Given the description of an element on the screen output the (x, y) to click on. 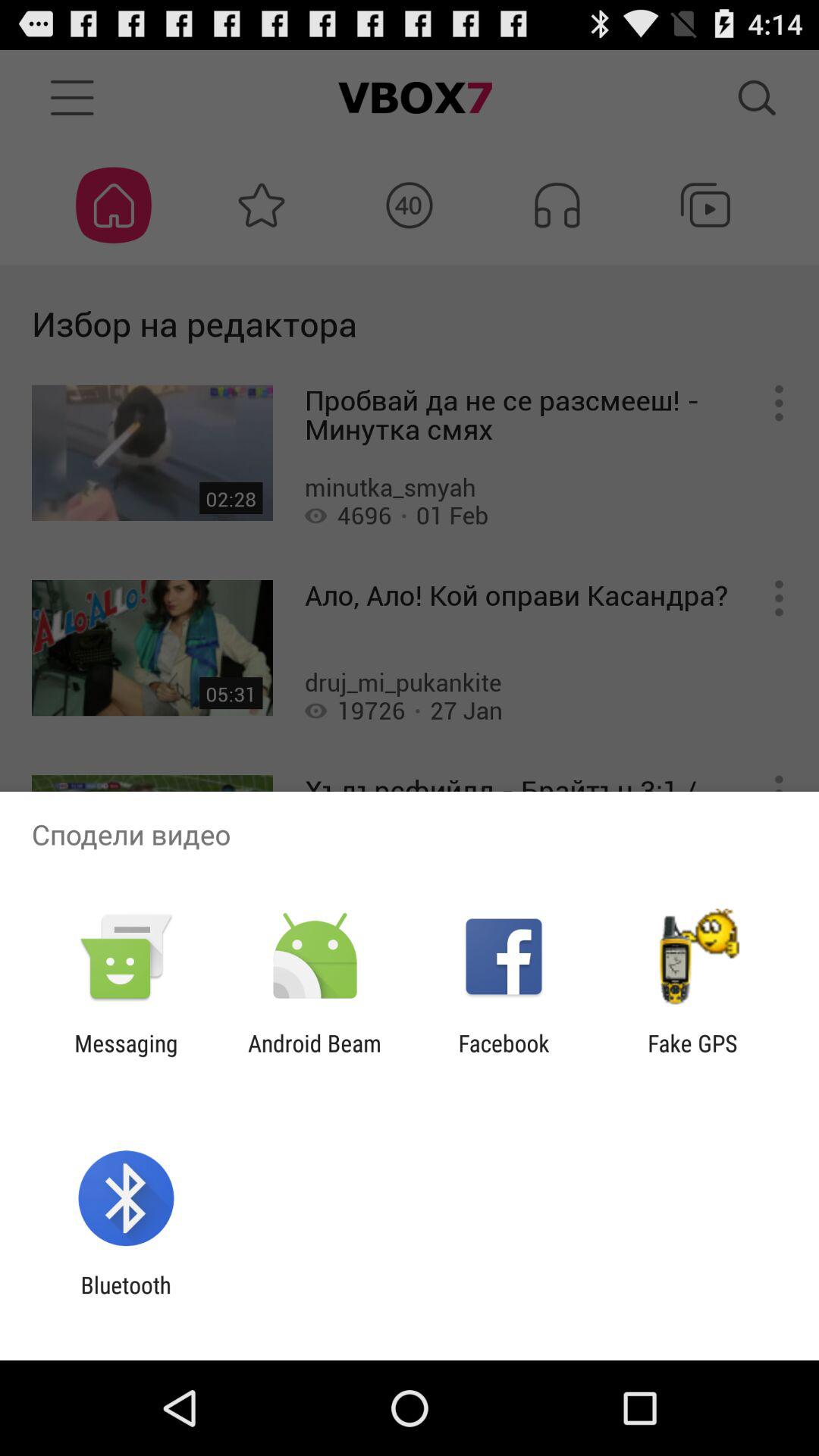
click icon next to the android beam icon (503, 1056)
